Given the description of an element on the screen output the (x, y) to click on. 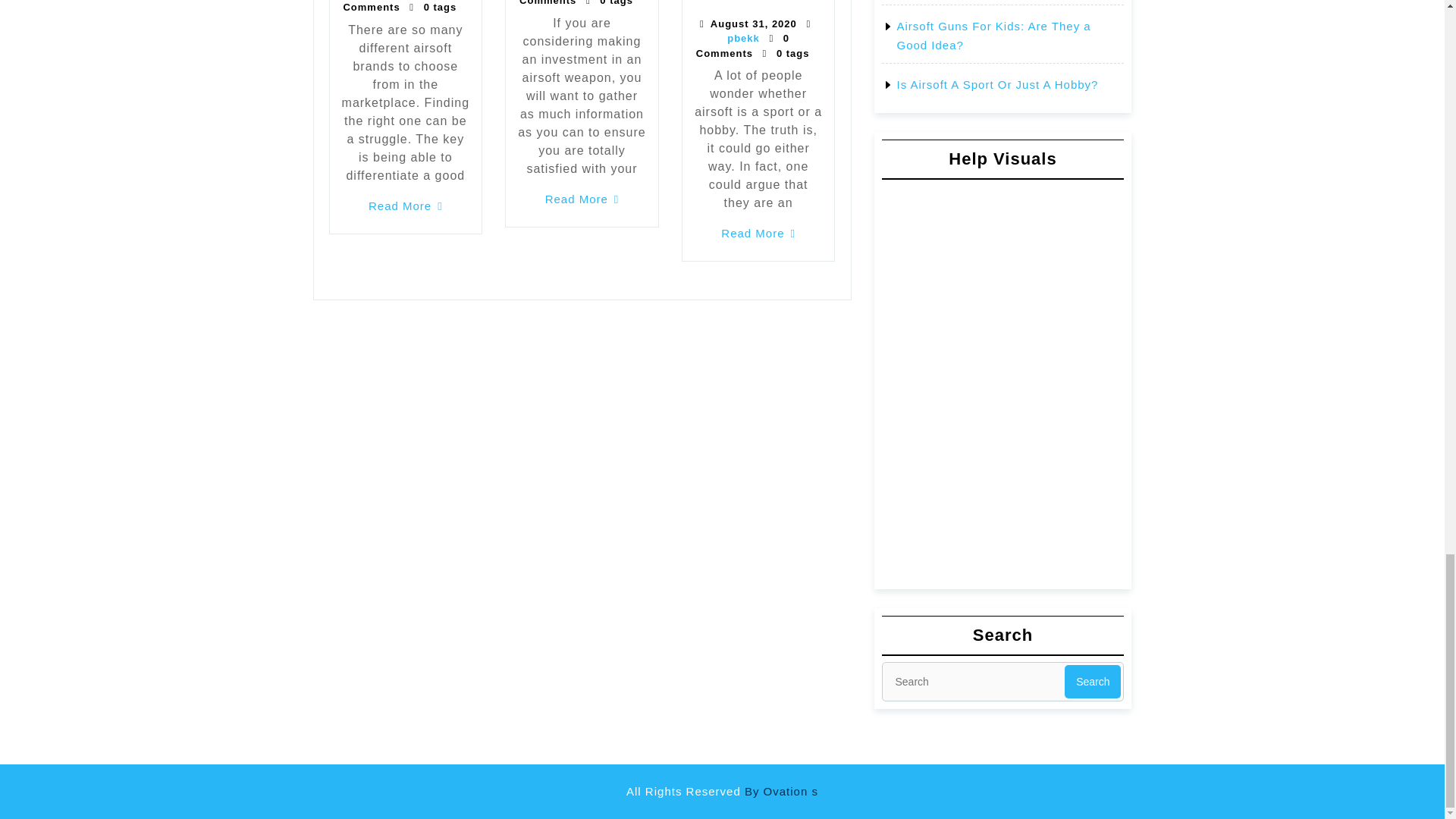
pbekk (743, 38)
Read More (582, 199)
Is Airsoft A Sport Or Just A Hobby? (996, 83)
Read More (405, 206)
Airsoft Guns For Kids: Are They a Good Idea? (993, 35)
All Rights Reserved By Ovation s (722, 790)
Search (1092, 681)
Read More (757, 233)
